Given the description of an element on the screen output the (x, y) to click on. 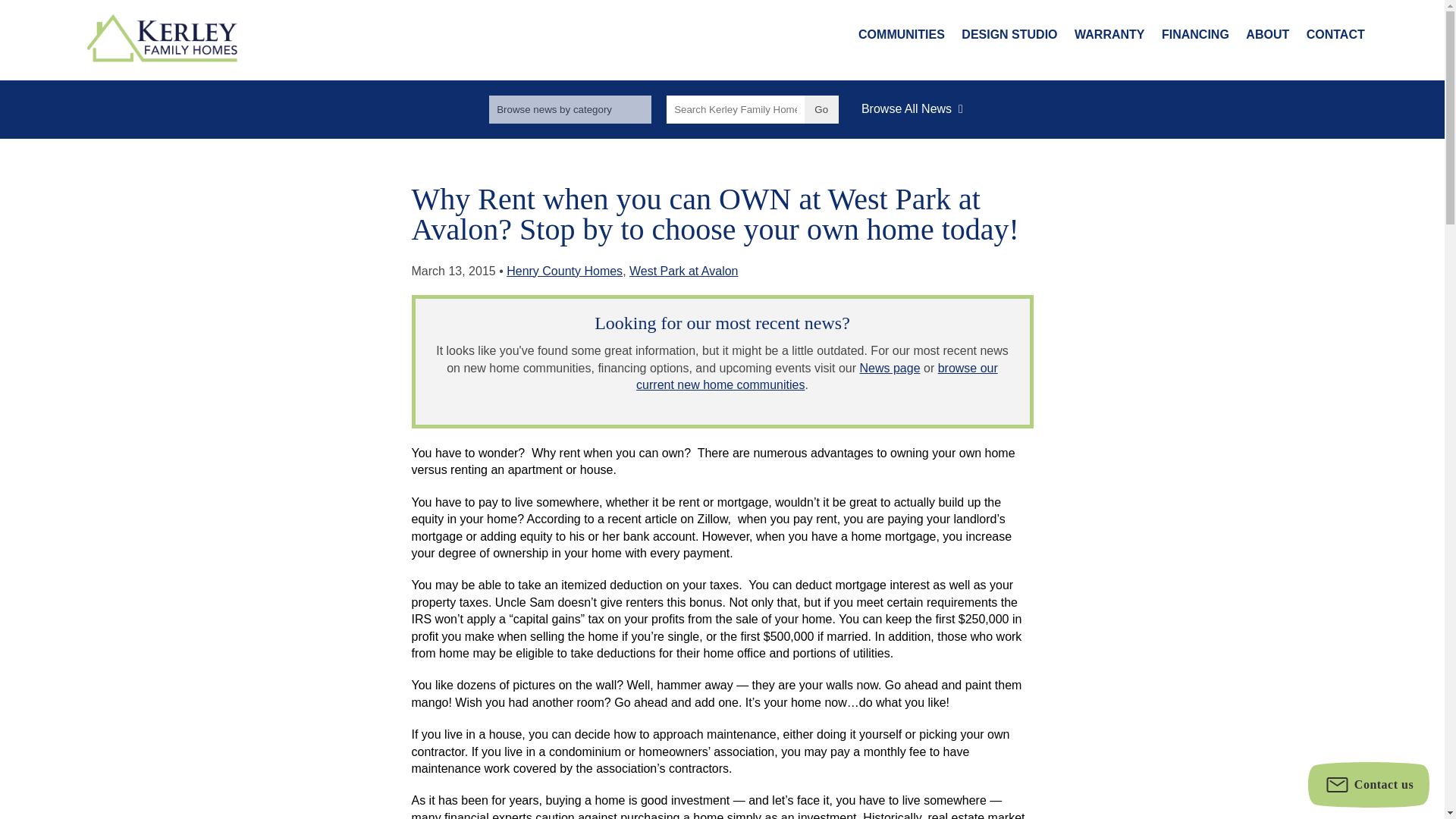
Henry County Homes (564, 270)
Go (821, 108)
ABOUT (1267, 33)
Go (821, 108)
WARRANTY (1109, 33)
West Park at Avalon (683, 270)
Browse All News   (903, 108)
DESIGN STUDIO (1008, 33)
FINANCING (1194, 33)
COMMUNITIES (901, 33)
News page (889, 367)
browse our current new home communities (816, 376)
CONTACT (1335, 33)
